Given the description of an element on the screen output the (x, y) to click on. 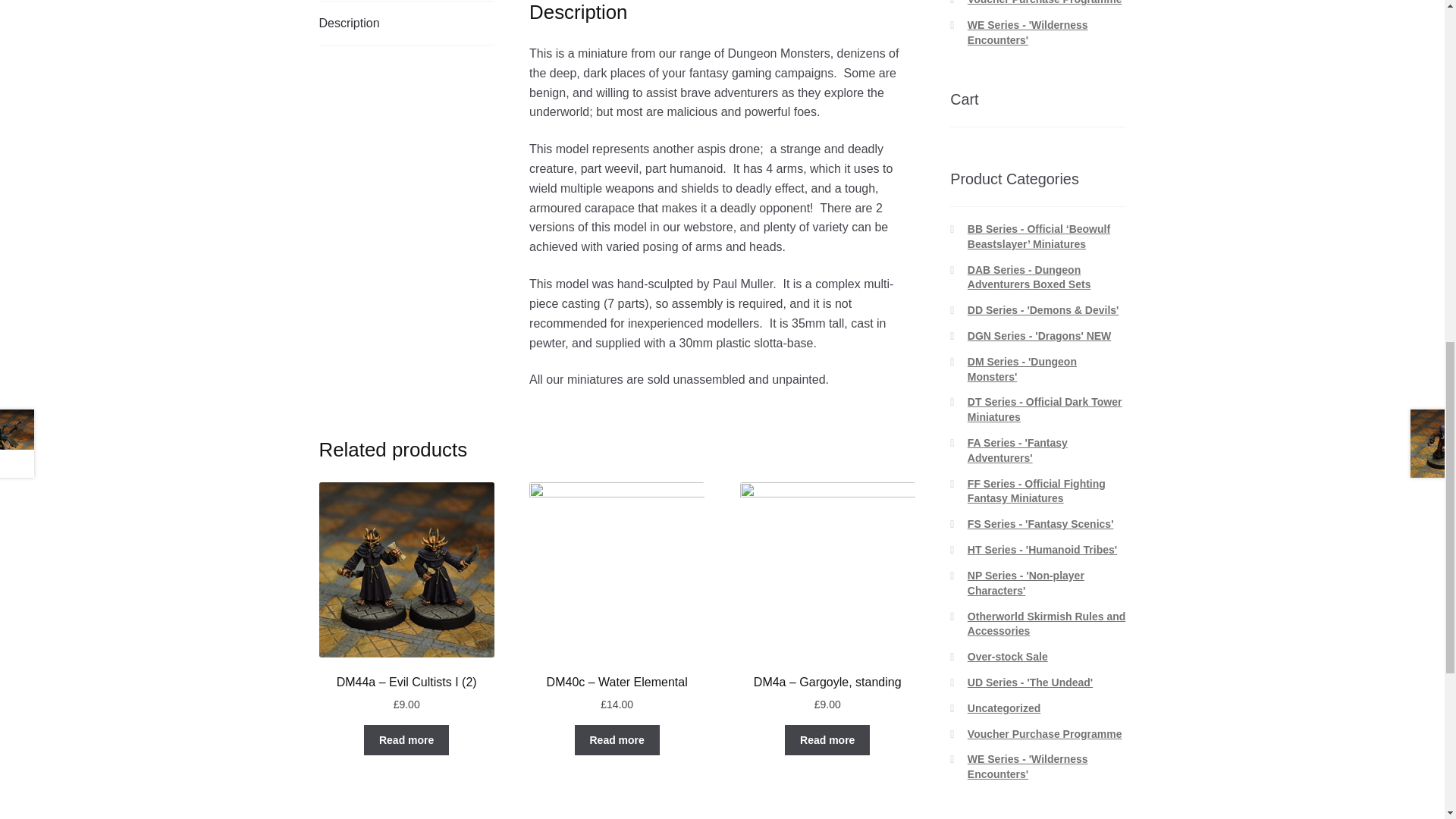
Read more (617, 739)
Description (406, 23)
Read more (406, 739)
